Given the description of an element on the screen output the (x, y) to click on. 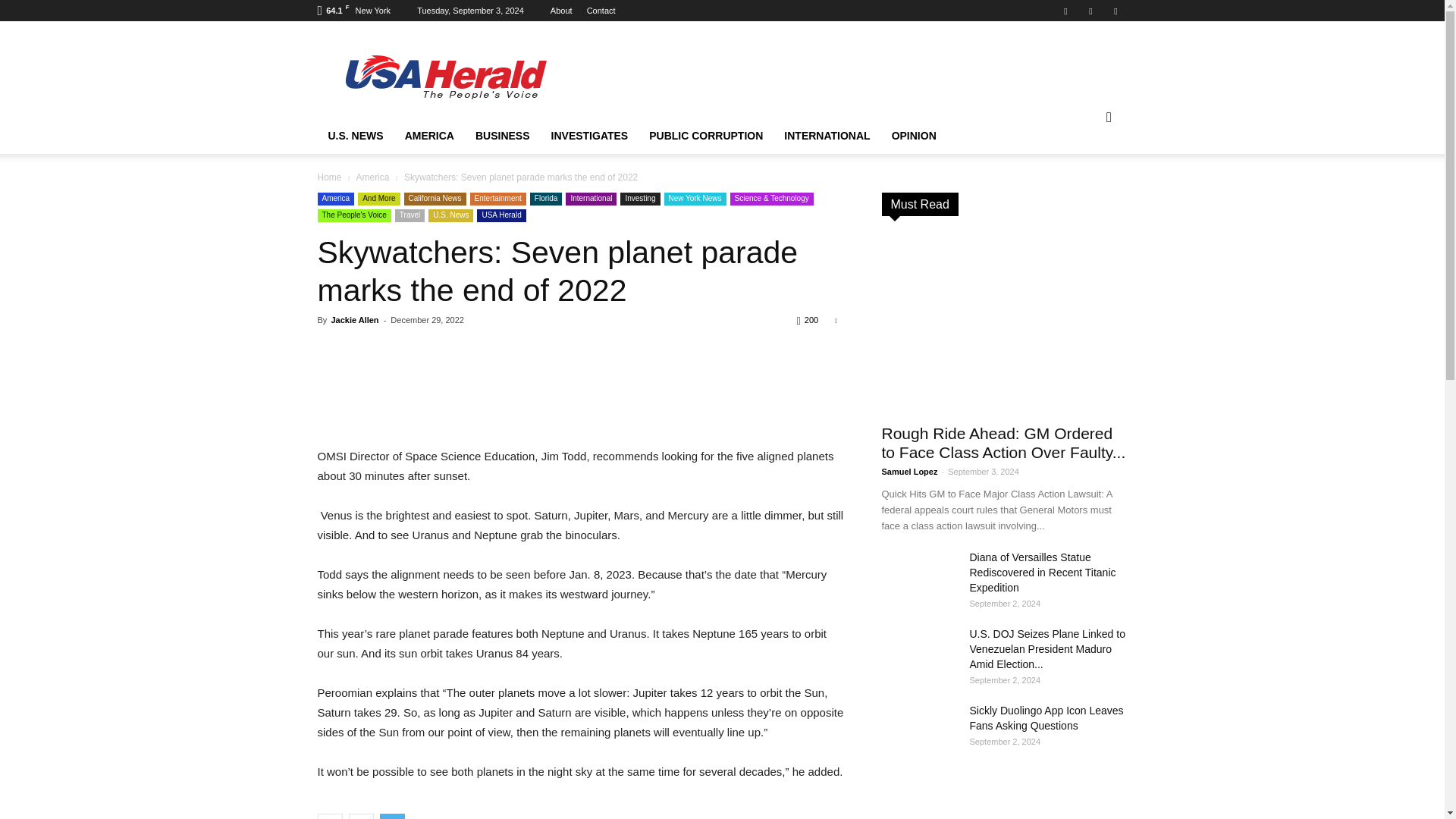
Twitter (1114, 10)
Home (445, 76)
RSS (1090, 10)
Contact (600, 10)
INVESTIGATES (589, 135)
BUSINESS (502, 135)
PUBLIC CORRUPTION (706, 135)
OPINION (913, 135)
AMERICA (429, 135)
U.S. NEWS (355, 135)
